Given the description of an element on the screen output the (x, y) to click on. 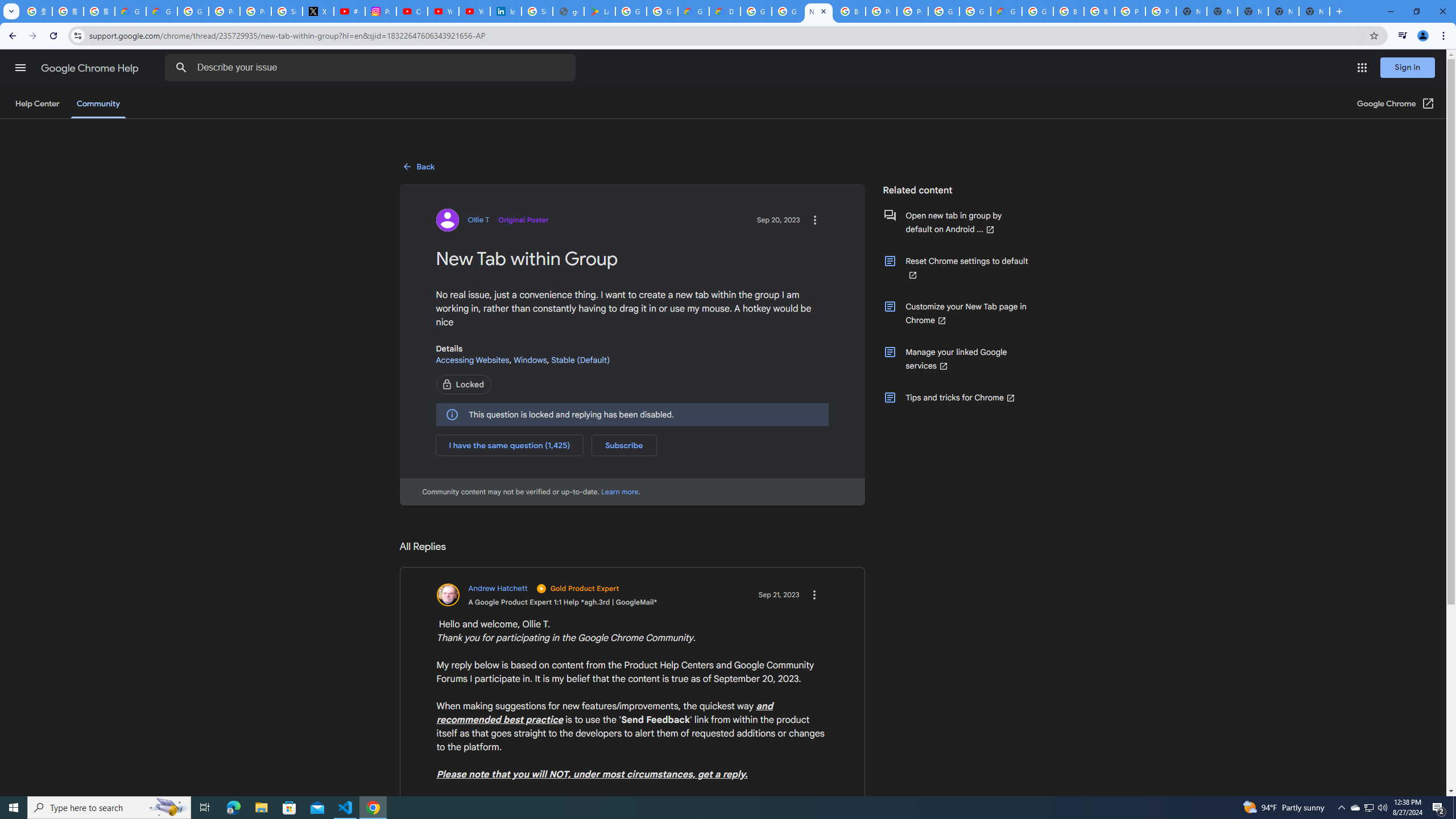
Privacy Help Center - Policies Help (255, 11)
Google Cloud Platform (1037, 11)
Privacy Help Center - Policies Help (223, 11)
Google Chrome Help (90, 68)
Subscribe (624, 444)
Sign in - Google Accounts (286, 11)
Last Shelter: Survival - Apps on Google Play (599, 11)
Windows (530, 359)
